Given the description of an element on the screen output the (x, y) to click on. 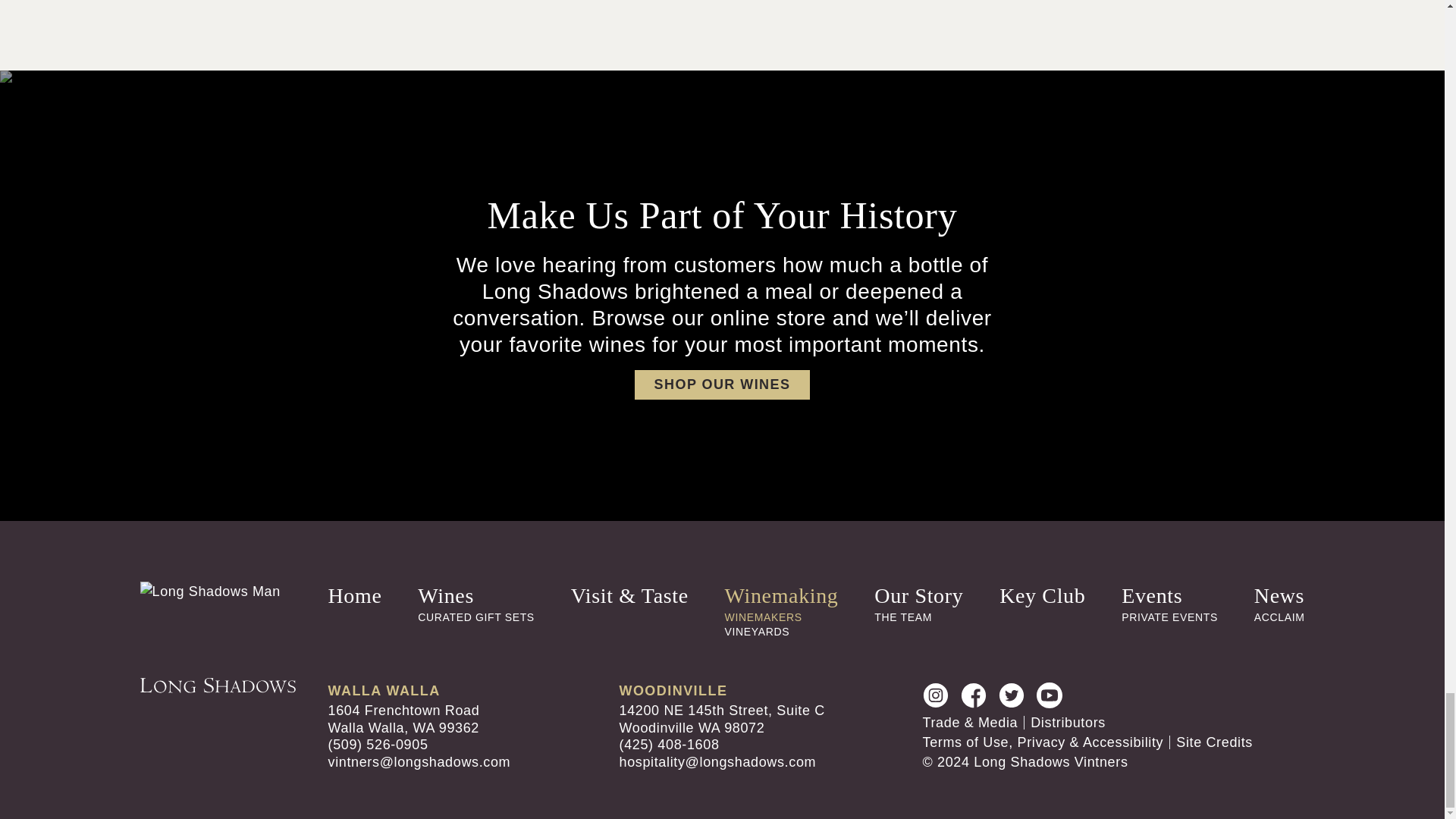
VINEYARDS (757, 631)
CURATED GIFT SETS (475, 616)
SHOP OUR WINES (722, 384)
Winemaking (781, 595)
PRIVATE EVENTS (1169, 616)
WINEMAKERS (763, 616)
THE TEAM (903, 616)
Key Club (1041, 595)
Wines (445, 595)
Home (354, 595)
Events (1151, 595)
Our Story (918, 595)
